Given the description of an element on the screen output the (x, y) to click on. 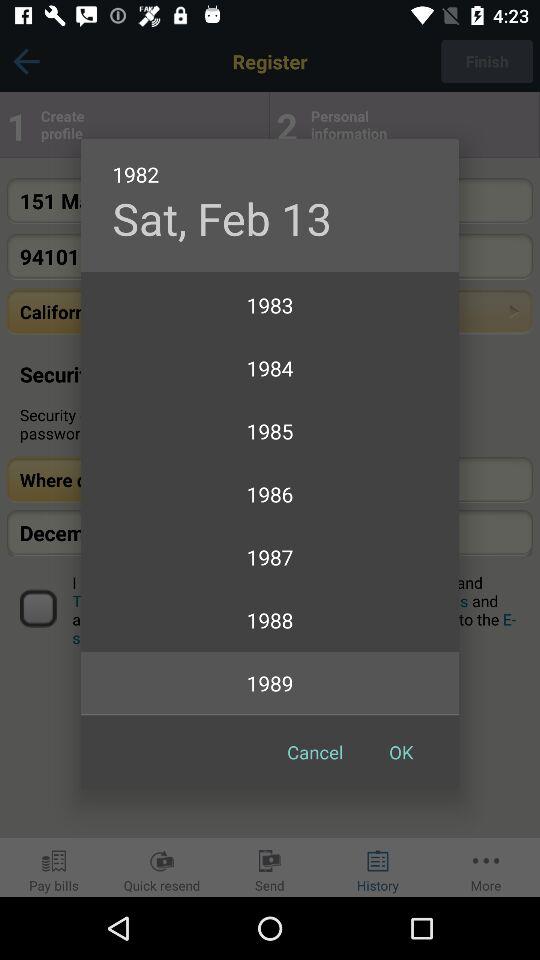
choose icon next to ok button (315, 751)
